Given the description of an element on the screen output the (x, y) to click on. 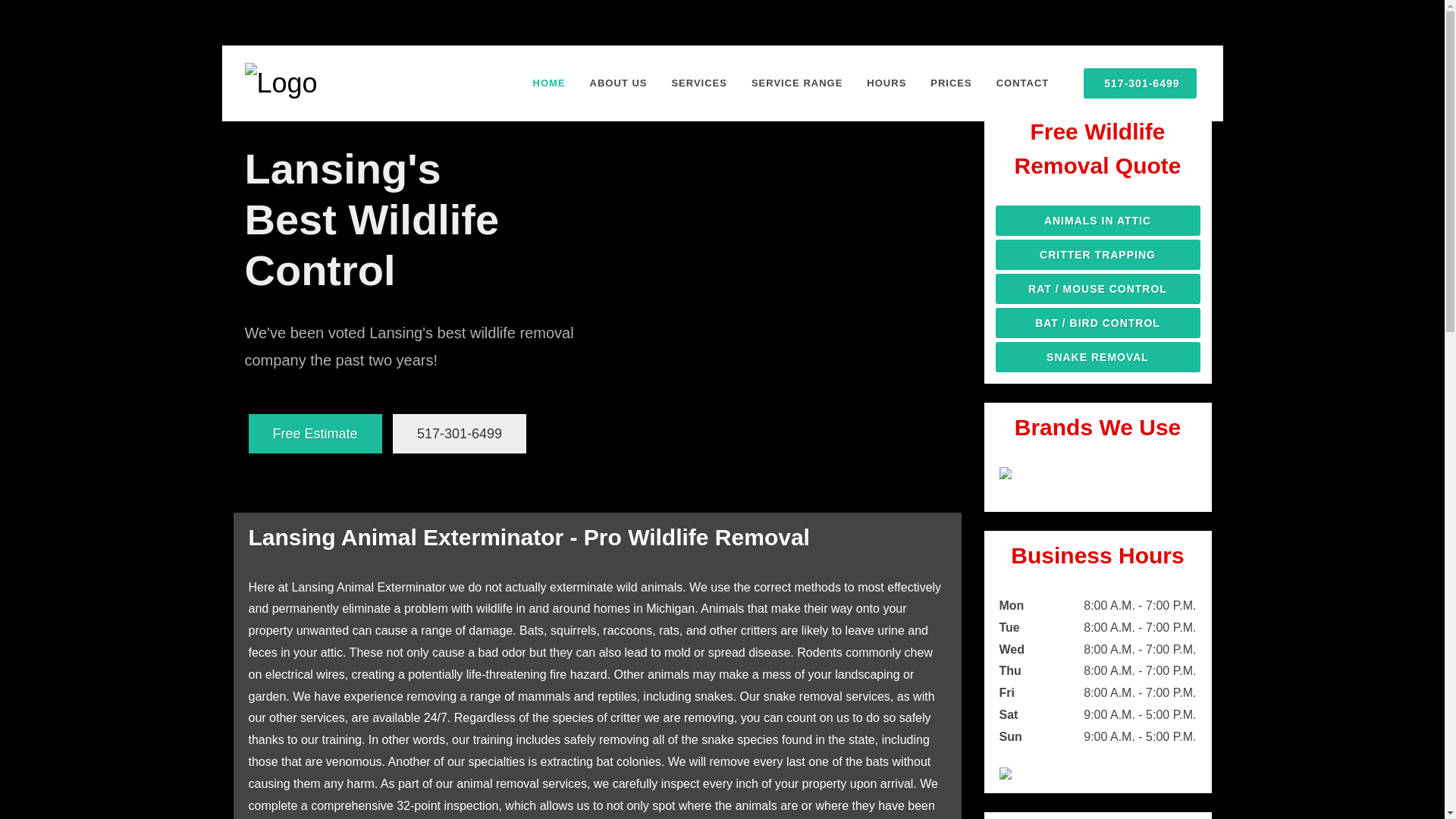
ABOUT US (618, 83)
517-301-6499 (459, 433)
517-301-6499 (1139, 82)
CRITTER TRAPPING (1096, 254)
SERVICE RANGE (796, 83)
SERVICES (698, 83)
CONTACT (1023, 83)
Free Estimate (314, 433)
SNAKE REMOVAL (1096, 357)
PRICES (950, 83)
ANIMALS IN ATTIC (1096, 220)
HOME (548, 83)
HOURS (886, 83)
